Given the description of an element on the screen output the (x, y) to click on. 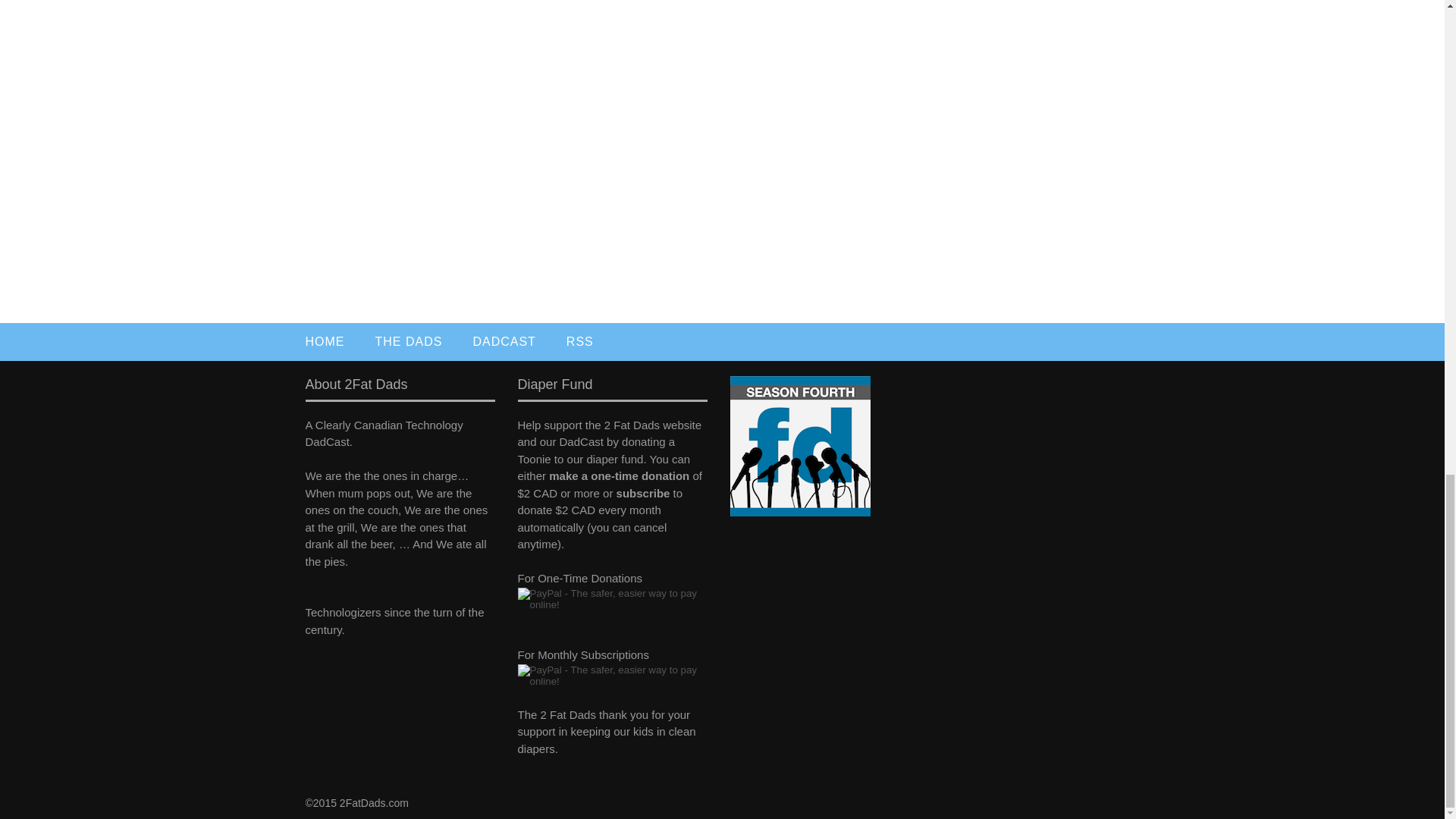
Listen in iTunes (799, 512)
